Given the description of an element on the screen output the (x, y) to click on. 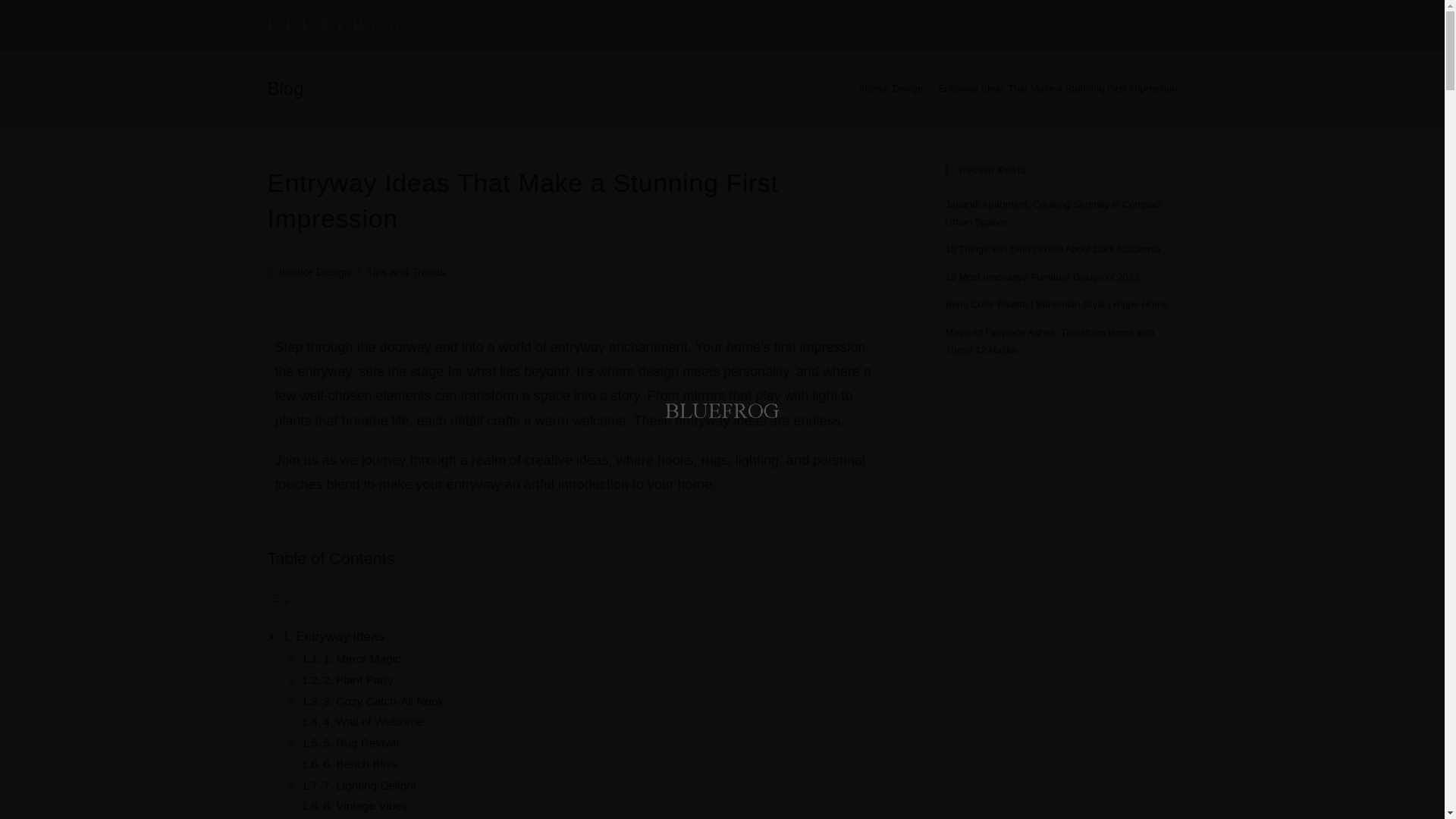
Interior Design (314, 272)
1. Mirror Magic (362, 658)
Tips and Trends (405, 272)
3. Cozy Catch-All Nook (383, 700)
ABOUT US (905, 24)
5. Rug Revival (360, 742)
Entryway Ideas That Make a Stunning First Impression (1057, 88)
6. Bench Bliss (359, 763)
CONTACT (1147, 24)
3. Cozy Catch-All Nook (383, 700)
5. Rug Revival (360, 742)
Interior Design (891, 88)
6. Bench Bliss (359, 763)
4. Wall of Welcome (373, 721)
8. Vintage Vibes (365, 805)
